Given the description of an element on the screen output the (x, y) to click on. 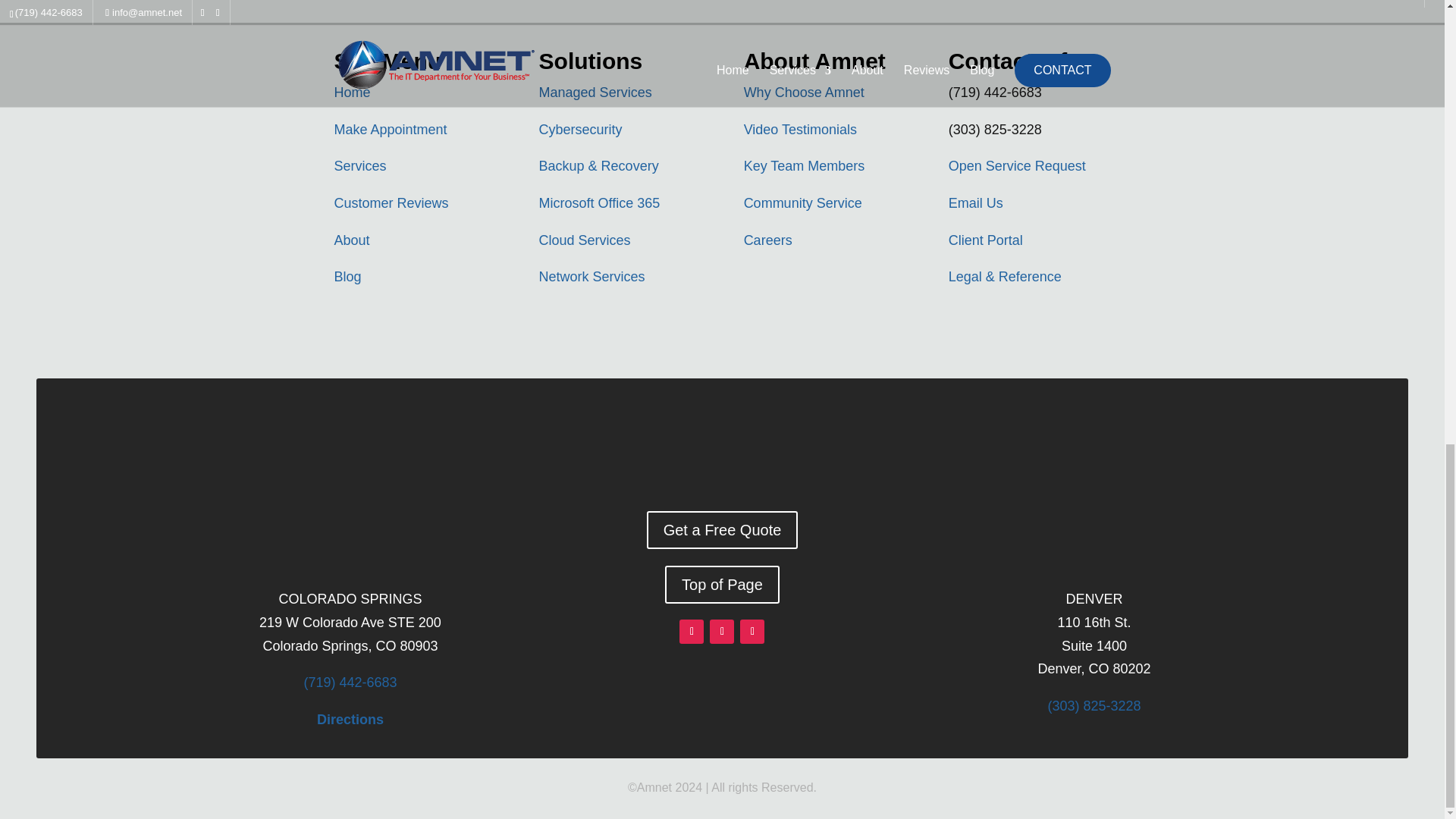
Network Services (591, 276)
Managed Services (595, 92)
Follow on X (721, 631)
Make Appointment (389, 129)
Why Choose Amnet (804, 92)
About (351, 240)
Customer Reviews (390, 202)
Cloud Services (584, 240)
Microsoft Office 365 (599, 202)
Follow on Facebook (691, 631)
Follow on LinkedIn (751, 631)
Cybersecurity (580, 129)
Services (359, 165)
Blog (347, 276)
Home (351, 92)
